Given the description of an element on the screen output the (x, y) to click on. 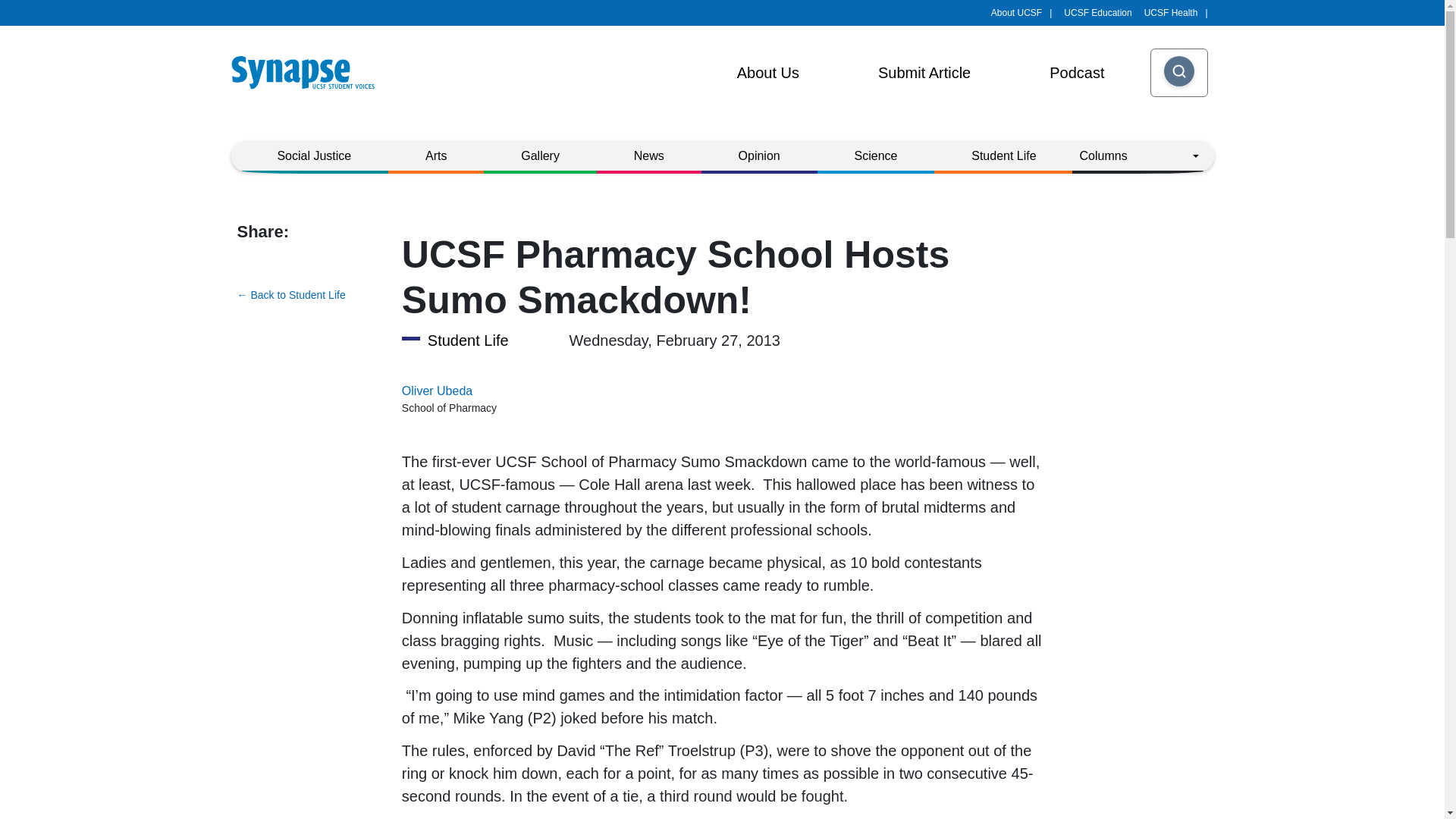
Home (308, 72)
Podcast (1076, 72)
Expand menu Columns (1139, 155)
UCSF Education (1097, 12)
Submit Article (924, 72)
UCSF Health (1176, 12)
About UCSF (1021, 12)
About Us (767, 72)
